Given the description of an element on the screen output the (x, y) to click on. 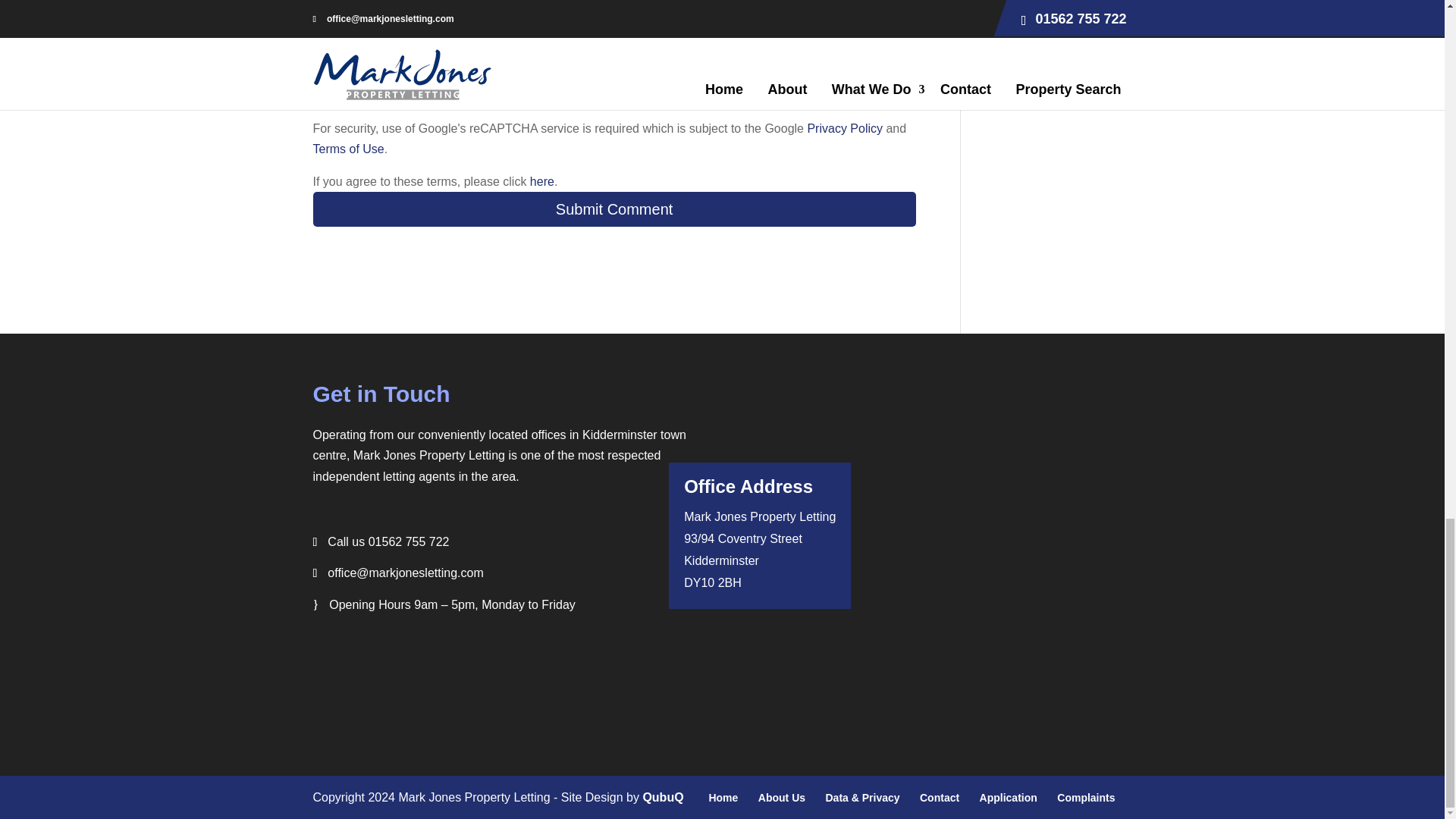
Terms of Use (348, 148)
Privacy Policy (844, 128)
Submit Comment (614, 208)
Submit Comment (614, 208)
here (541, 181)
